Given the description of an element on the screen output the (x, y) to click on. 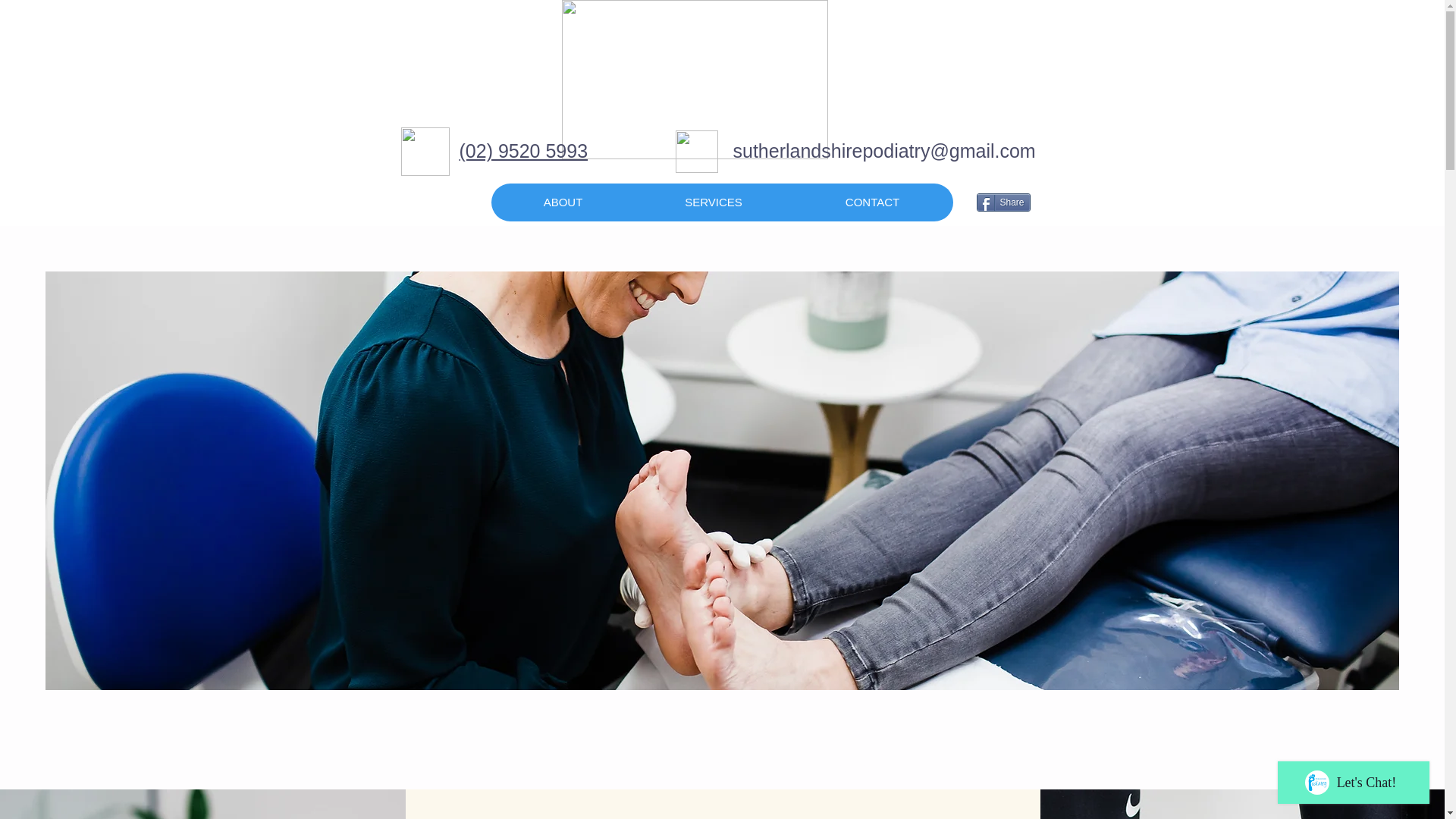
Share (1003, 202)
SS Podiatry Logo.jpg (693, 79)
ABOUT (563, 202)
SERVICES (713, 202)
CONTACT (872, 202)
Share (1003, 202)
